Given the description of an element on the screen output the (x, y) to click on. 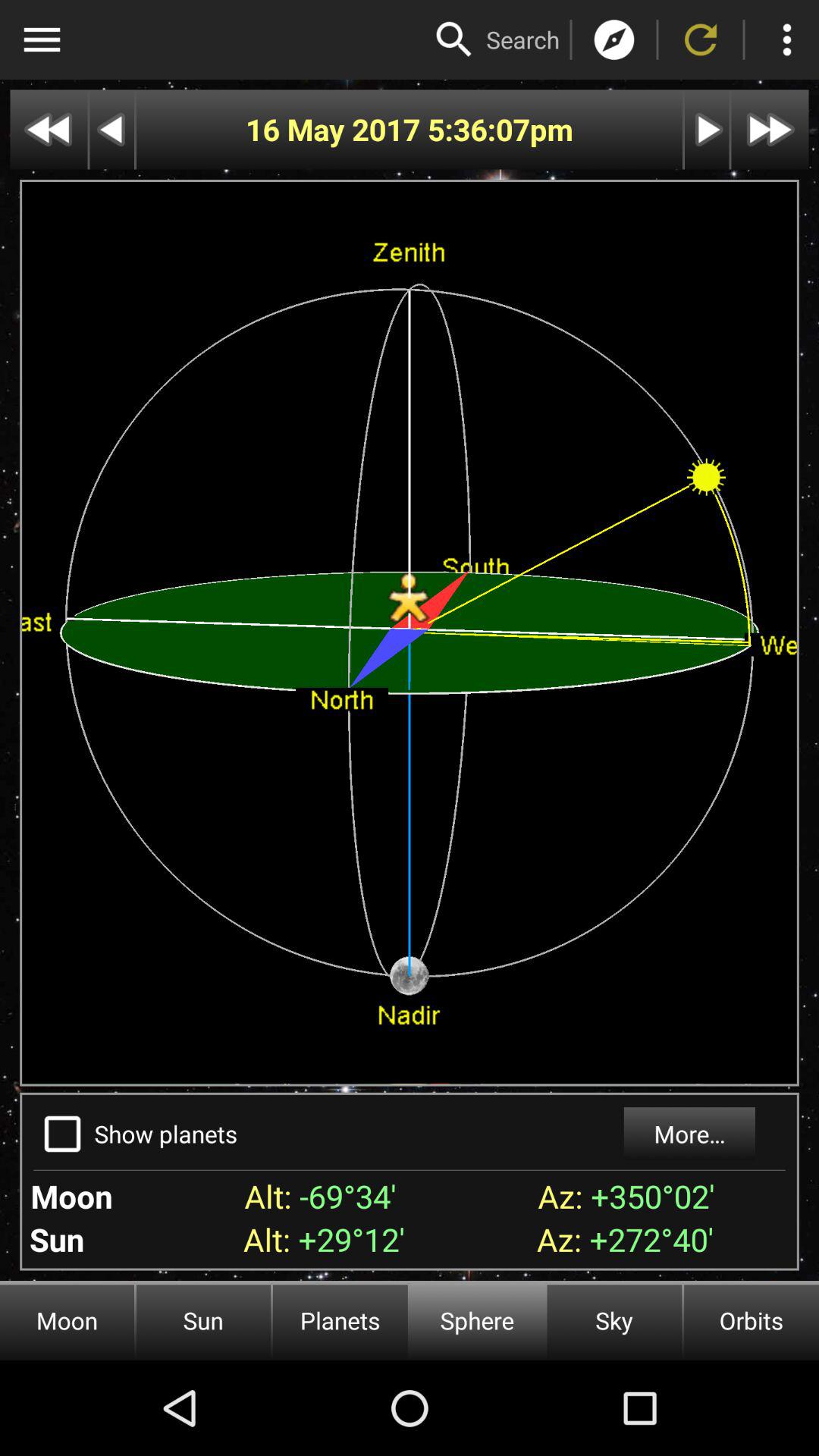
go back (48, 129)
